Given the description of an element on the screen output the (x, y) to click on. 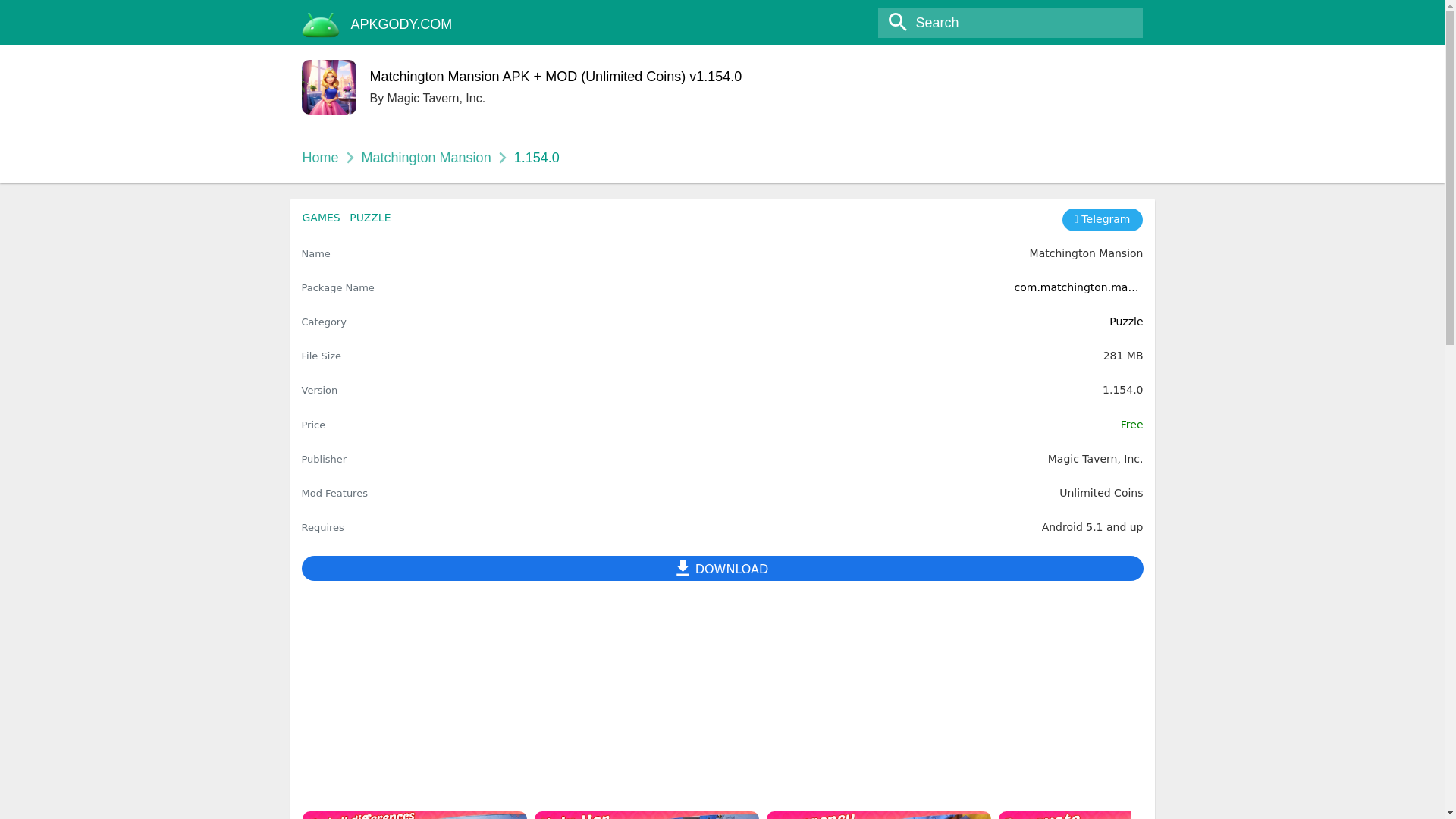
Telegram (1102, 219)
APKGODY.COM (401, 23)
PUZZLE (369, 217)
GAMES (320, 217)
APKGODY.COM (401, 23)
GO (18, 13)
Matchington Mansion (426, 157)
Home (319, 157)
DOWNLOAD (721, 568)
